Given the description of an element on the screen output the (x, y) to click on. 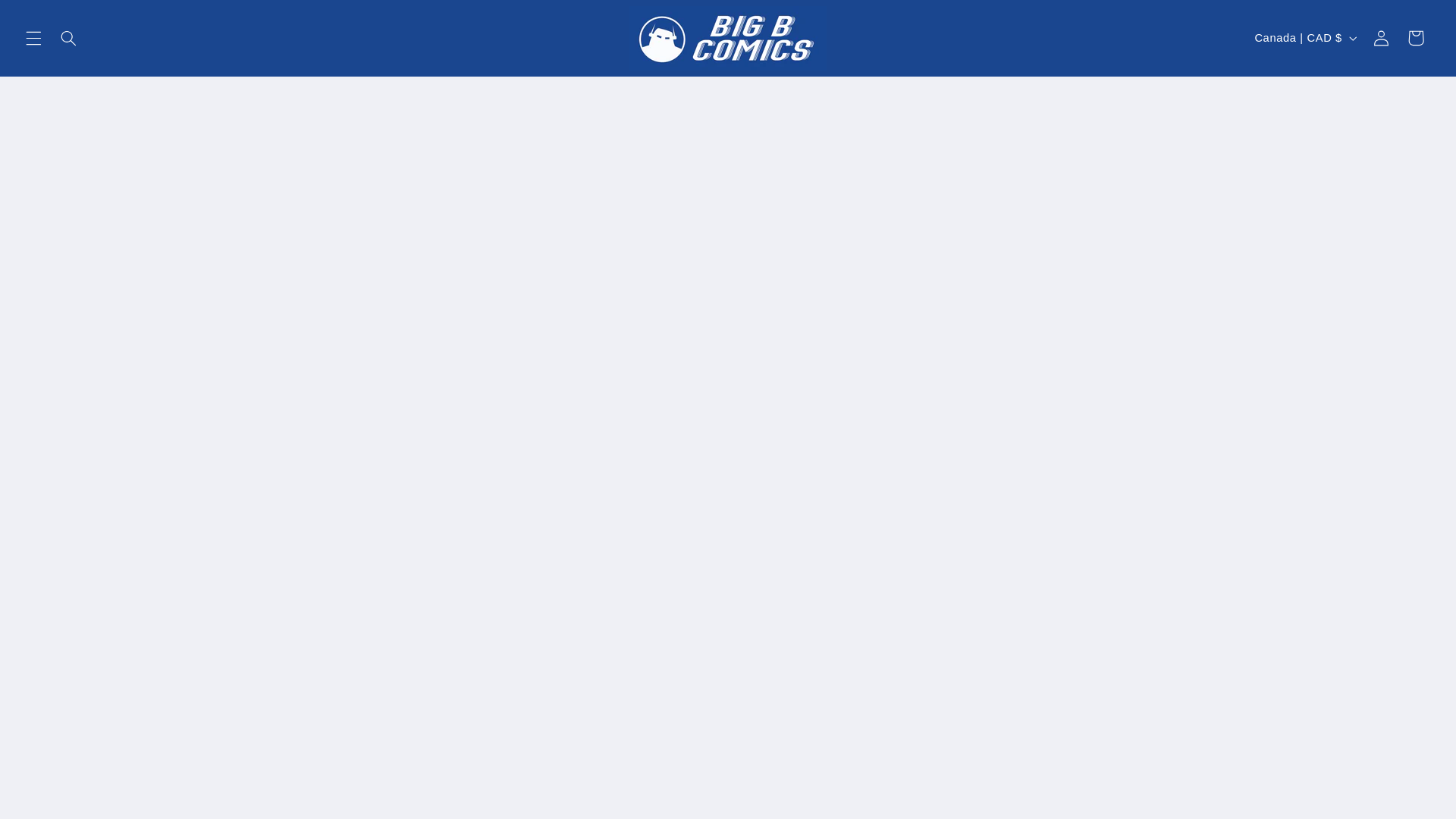
Skip to content (48, 18)
